Given the description of an element on the screen output the (x, y) to click on. 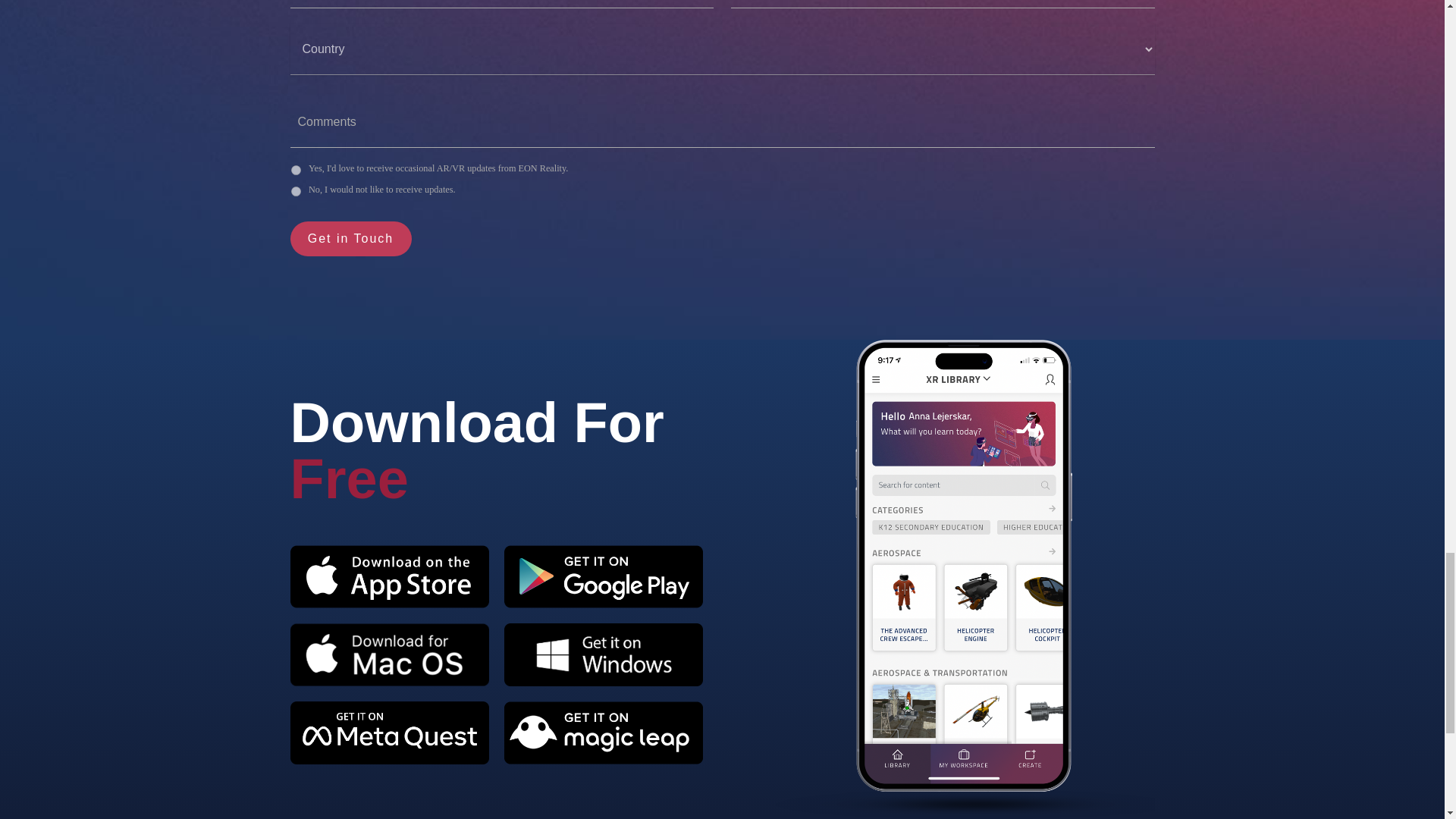
Get in Touch (349, 238)
No, I would not like to receive updates. (296, 191)
